Given the description of an element on the screen output the (x, y) to click on. 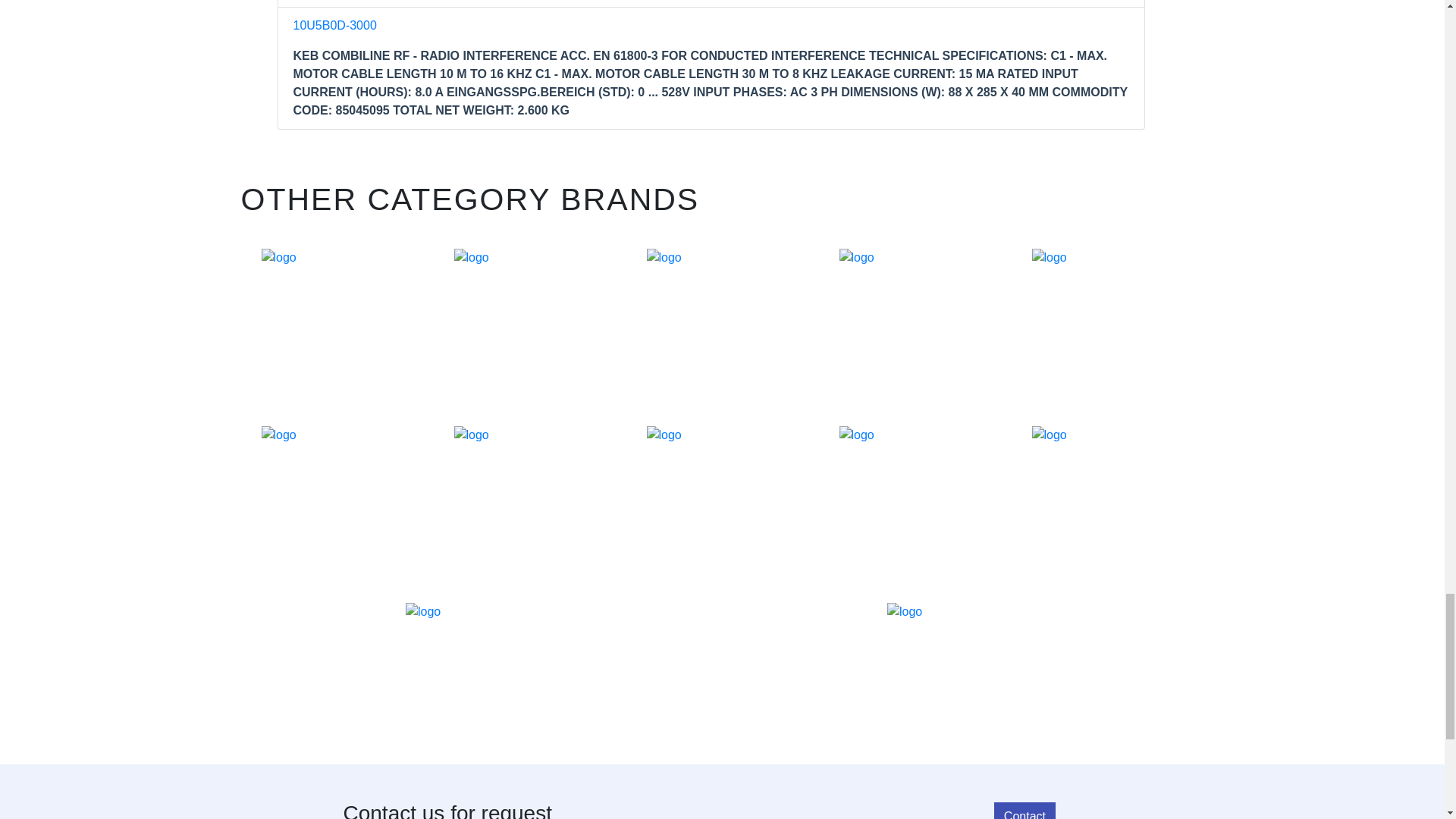
Fabrimex (721, 498)
Flex-Core (914, 498)
Cermate Technologies (721, 321)
Avg (336, 321)
Gamak (962, 675)
Flucom (1106, 498)
Domange (336, 498)
10U5B0D-3000 (333, 24)
Chelic (914, 321)
Bedia (528, 321)
